Given the description of an element on the screen output the (x, y) to click on. 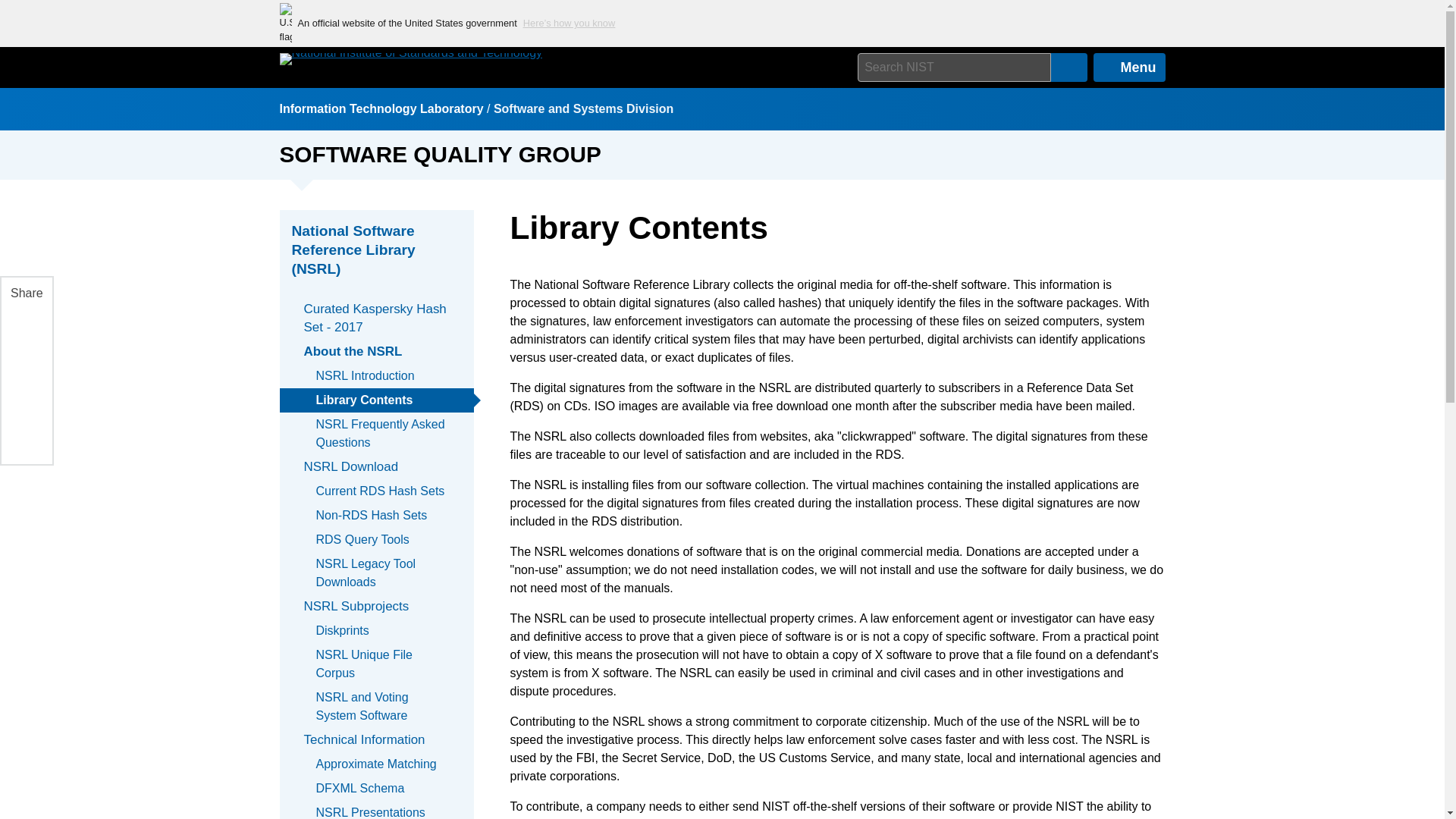
Email (25, 434)
Twitter (25, 399)
Menu (1129, 67)
National Institute of Standards and Technology (410, 59)
Facebook (25, 327)
Linkedin (25, 363)
